Given the description of an element on the screen output the (x, y) to click on. 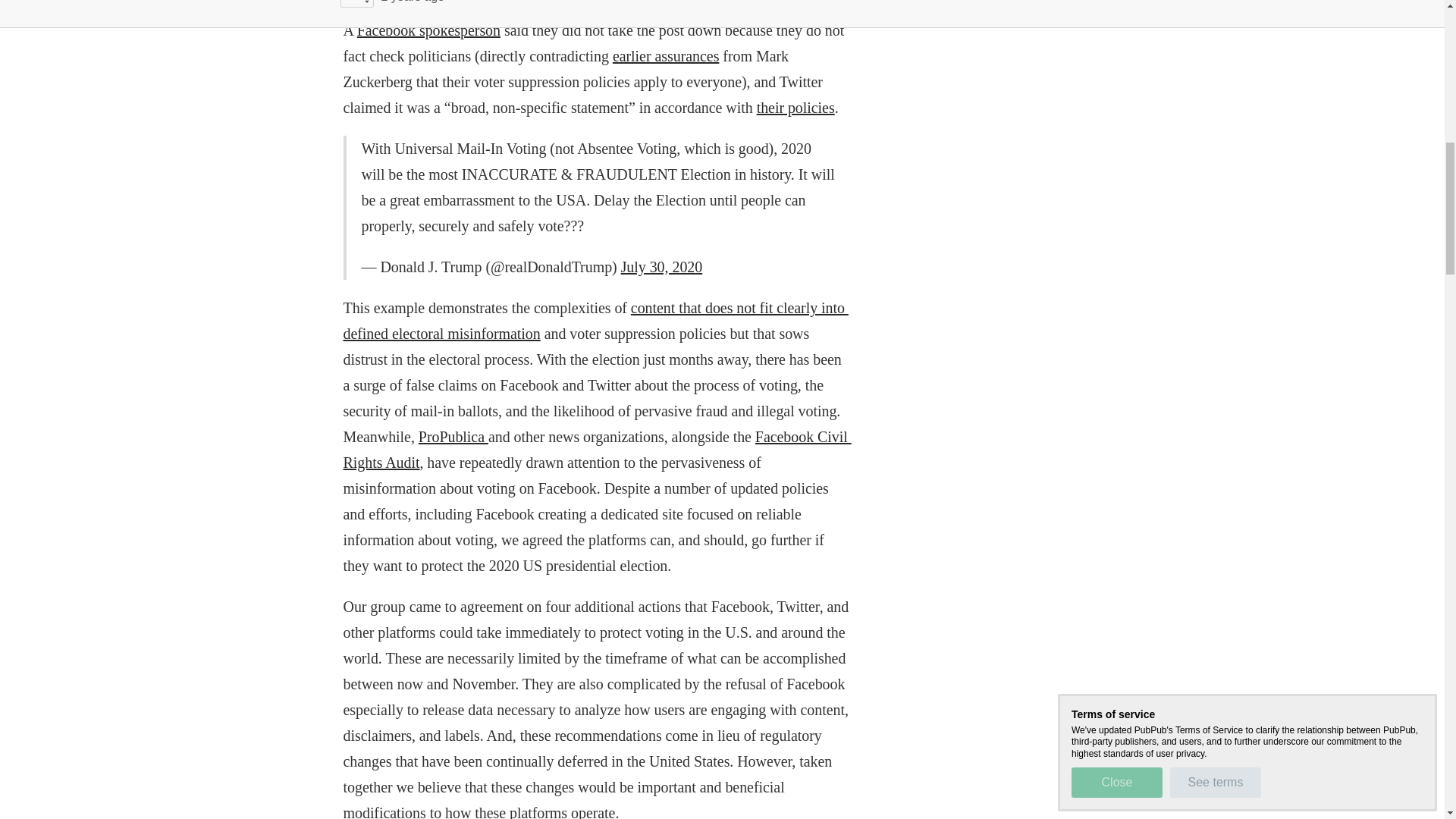
ProPublica  (453, 436)
Facebook Civil Rights Audit (596, 449)
Facebook spokesperson (428, 30)
earlier assurances (665, 55)
July 30, 2020 (662, 266)
their policies (795, 107)
